Given the description of an element on the screen output the (x, y) to click on. 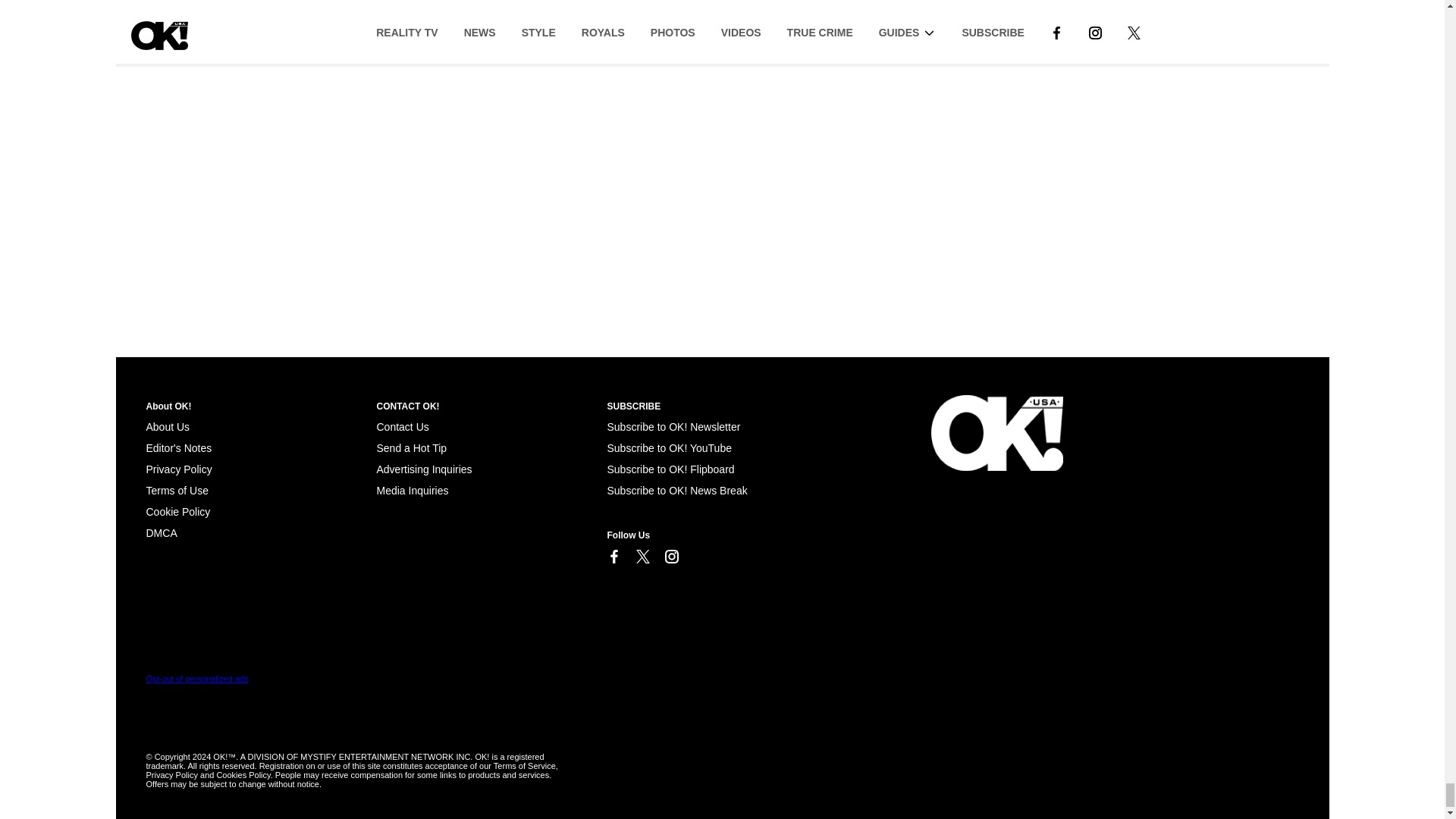
Link to Instagram (670, 556)
Privacy Policy (178, 469)
Link to X (641, 556)
Terms of Use (176, 490)
Cookie Policy (177, 511)
Cookie Policy (160, 532)
Editor's Notes (178, 448)
Send a Hot Tip (410, 448)
Link to Facebook (613, 556)
Contact Us (401, 426)
